Given the description of an element on the screen output the (x, y) to click on. 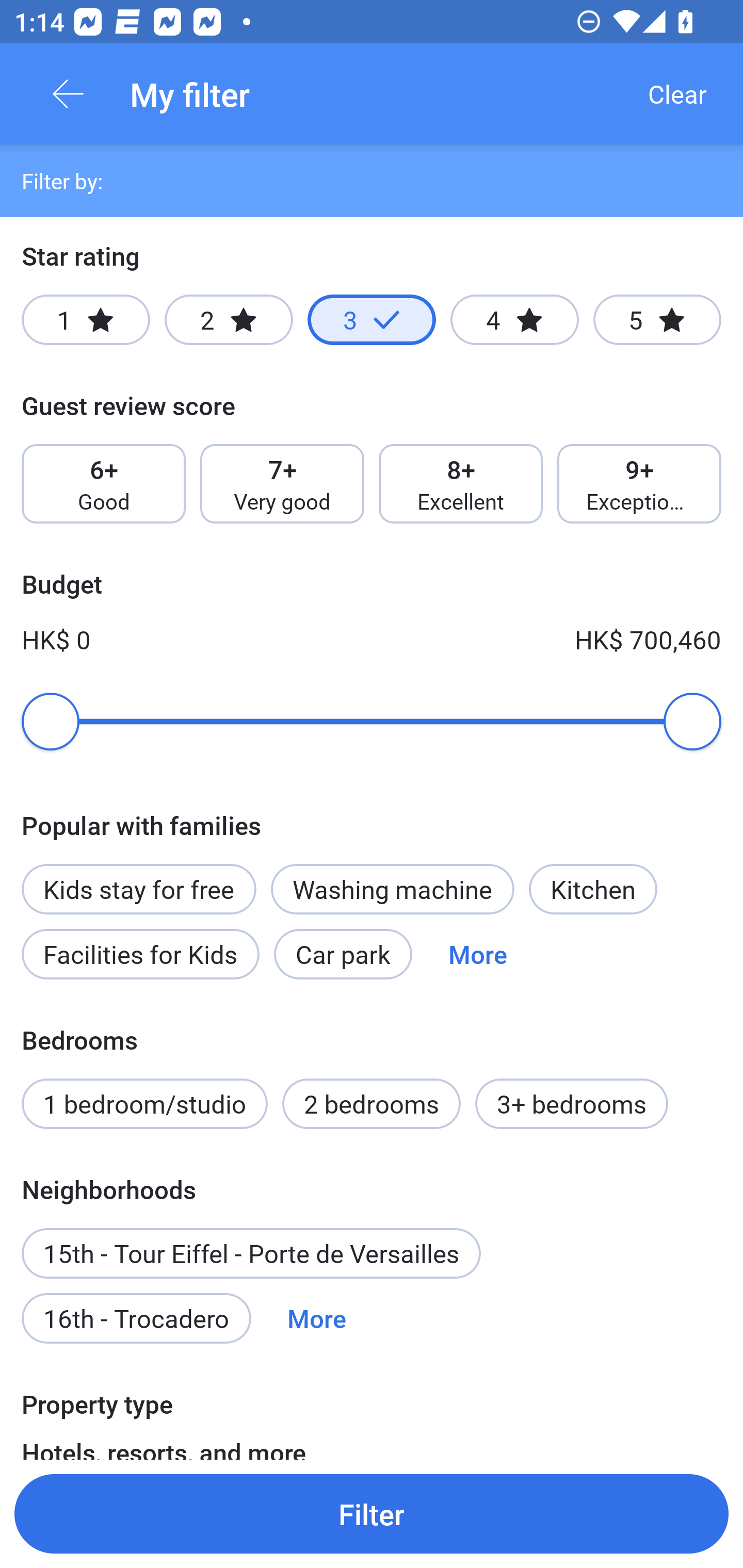
Clear (676, 93)
1 (85, 319)
2 (228, 319)
4 (514, 319)
5 (657, 319)
6+ Good (103, 483)
7+ Very good (281, 483)
8+ Excellent (460, 483)
9+ Exceptional (639, 483)
Kids stay for free (138, 878)
Washing machine (392, 888)
Kitchen (593, 888)
Facilities for Kids (140, 954)
Car park (343, 954)
More (477, 954)
1 bedroom/studio (144, 1103)
2 bedrooms (371, 1103)
3+ bedrooms (571, 1103)
15th - Tour Eiffel - Porte de Versailles (250, 1253)
16th - Trocadero (136, 1317)
More (316, 1317)
Filter (371, 1513)
